Given the description of an element on the screen output the (x, y) to click on. 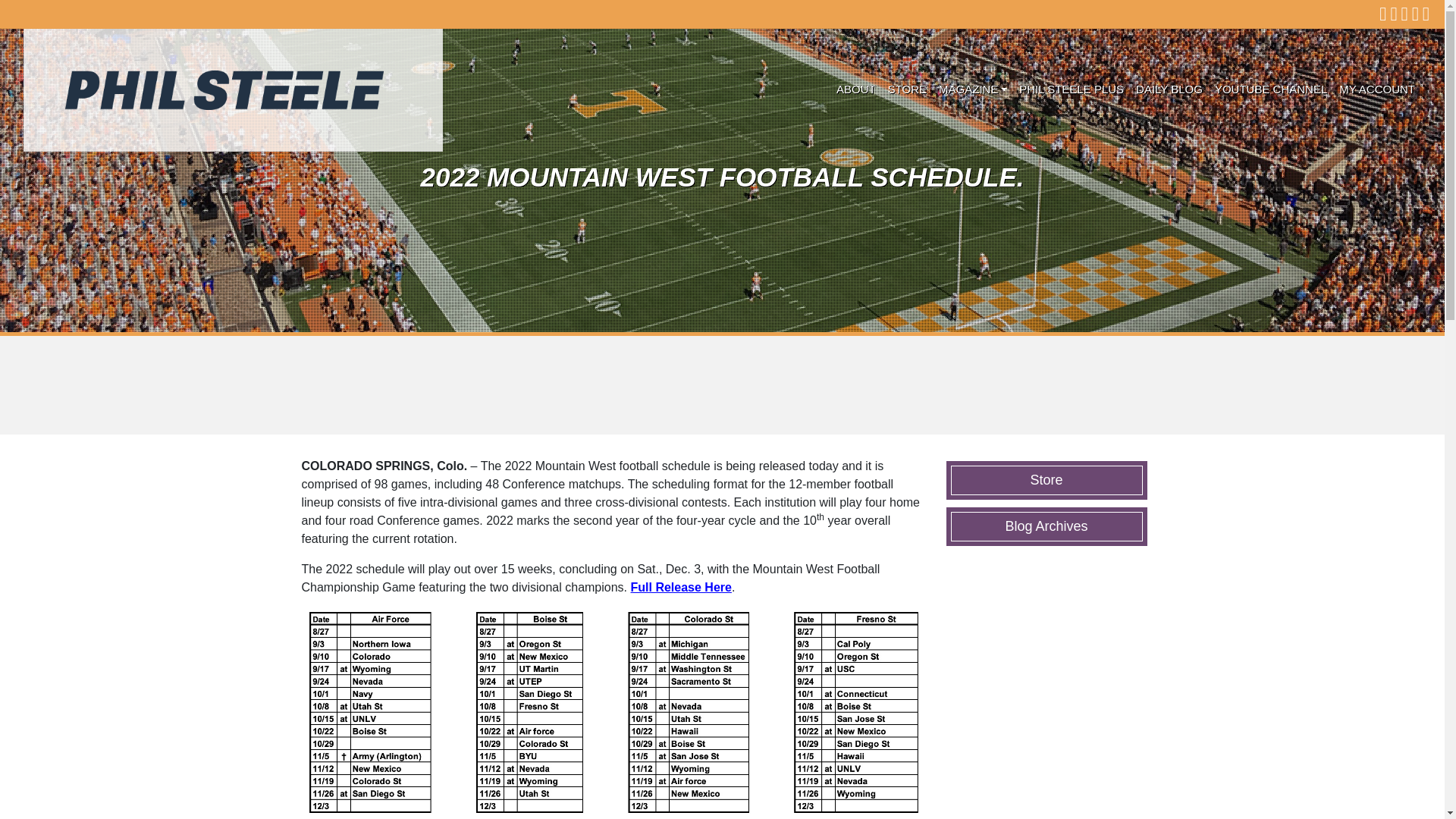
MAGAZINE (973, 89)
Youtube Channel (1270, 89)
ABOUT (855, 89)
PHIL STEELE PLUS (1071, 89)
Store (907, 89)
3rd party ad content (722, 384)
STORE (907, 89)
About (855, 89)
Magazine (973, 89)
DAILY BLOG (1168, 89)
Blog Archives (1045, 526)
Store (1045, 479)
Full Release Here (681, 586)
MY ACCOUNT (1377, 89)
My account (1377, 89)
